Given the description of an element on the screen output the (x, y) to click on. 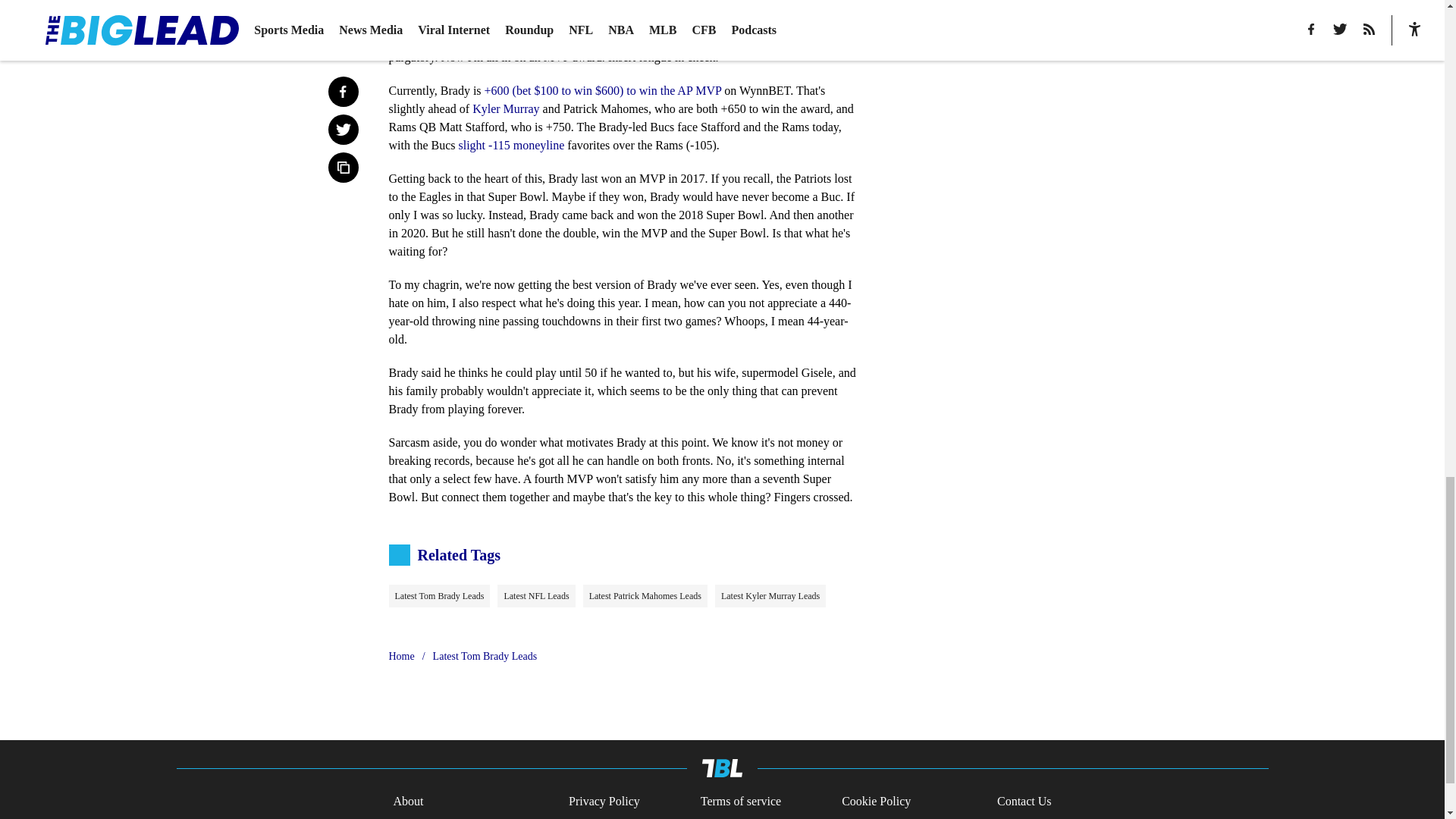
Latest Tom Brady Leads (484, 656)
Contact Us (1024, 801)
Latest NFL Leads (536, 595)
Privacy Policy (604, 801)
Kyler Murray (504, 108)
slight -115 moneyline (511, 144)
Terms of service (740, 801)
Home (400, 656)
About (408, 801)
Cookie Policy (876, 801)
Latest Tom Brady Leads (438, 595)
Latest Patrick Mahomes Leads (645, 595)
Latest Kyler Murray Leads (769, 595)
